Given the description of an element on the screen output the (x, y) to click on. 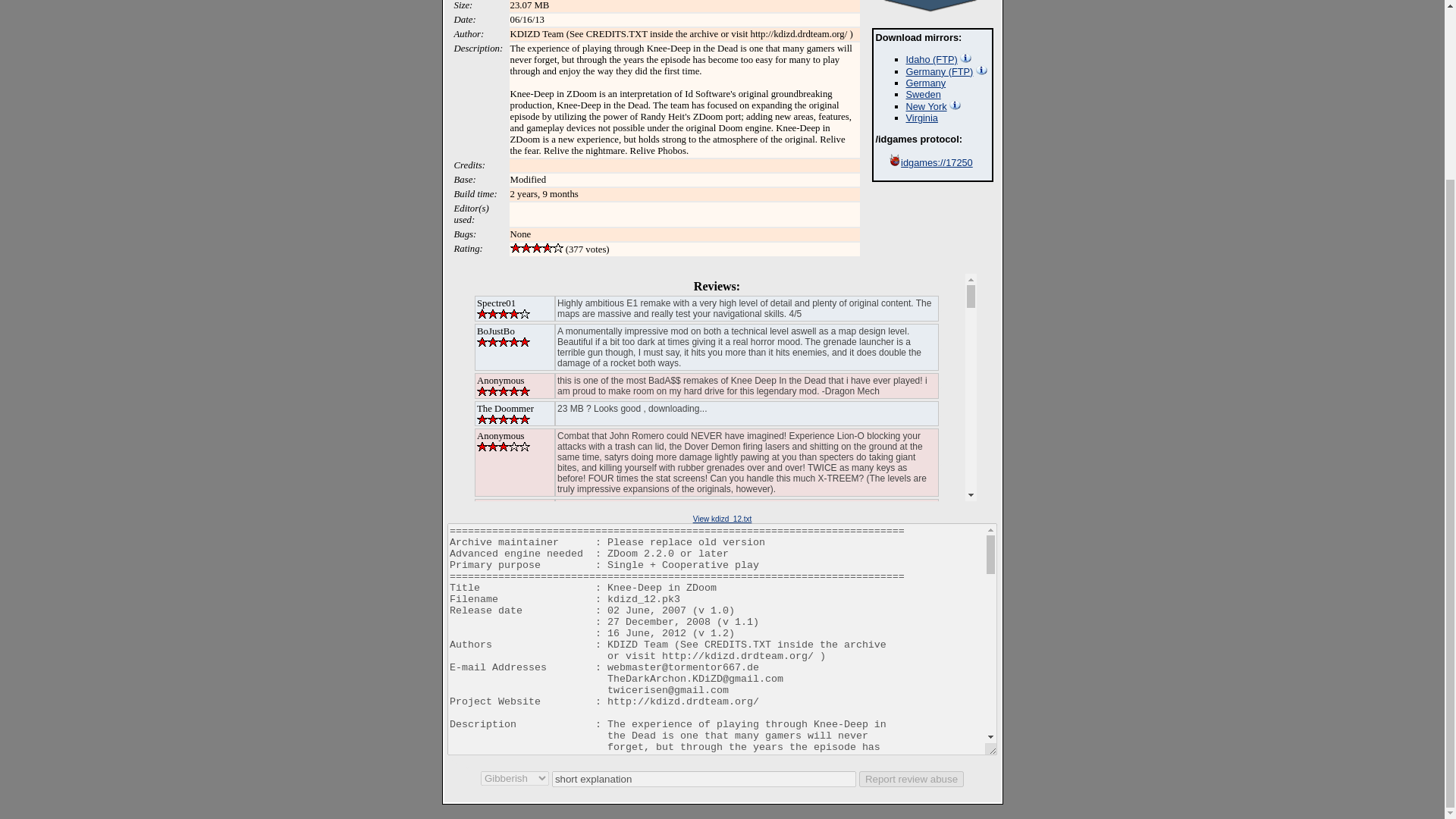
Primary download mirror (981, 70)
Virginia (921, 117)
Report review abuse (911, 779)
Report review abuse (911, 779)
short explanation (703, 779)
Primary download mirror (965, 58)
New York (925, 106)
Sweden (922, 93)
Germany (924, 82)
mong (457, 761)
